Given the description of an element on the screen output the (x, y) to click on. 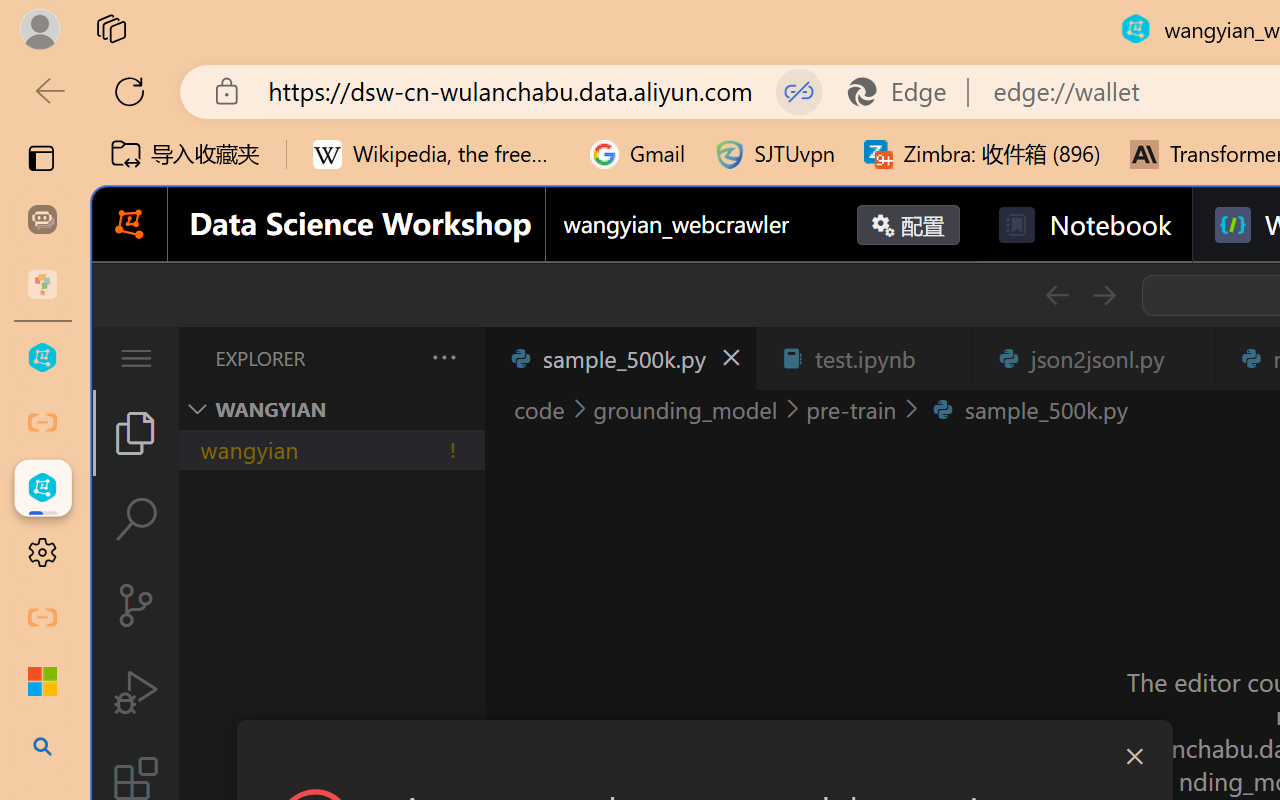
sample_500k.py (619, 358)
Gmail (637, 154)
Edge (905, 91)
Close Dialog (1133, 756)
Wikipedia, the free encyclopedia (437, 154)
Search (Ctrl+Shift+F) (135, 519)
Class: menubar compact overflow-menu-only (135, 358)
Explorer Section: wangyian (331, 409)
Source Control (Ctrl+Shift+G) (135, 604)
Explorer (Ctrl+Shift+E) (135, 432)
Views and More Actions... (442, 357)
